Given the description of an element on the screen output the (x, y) to click on. 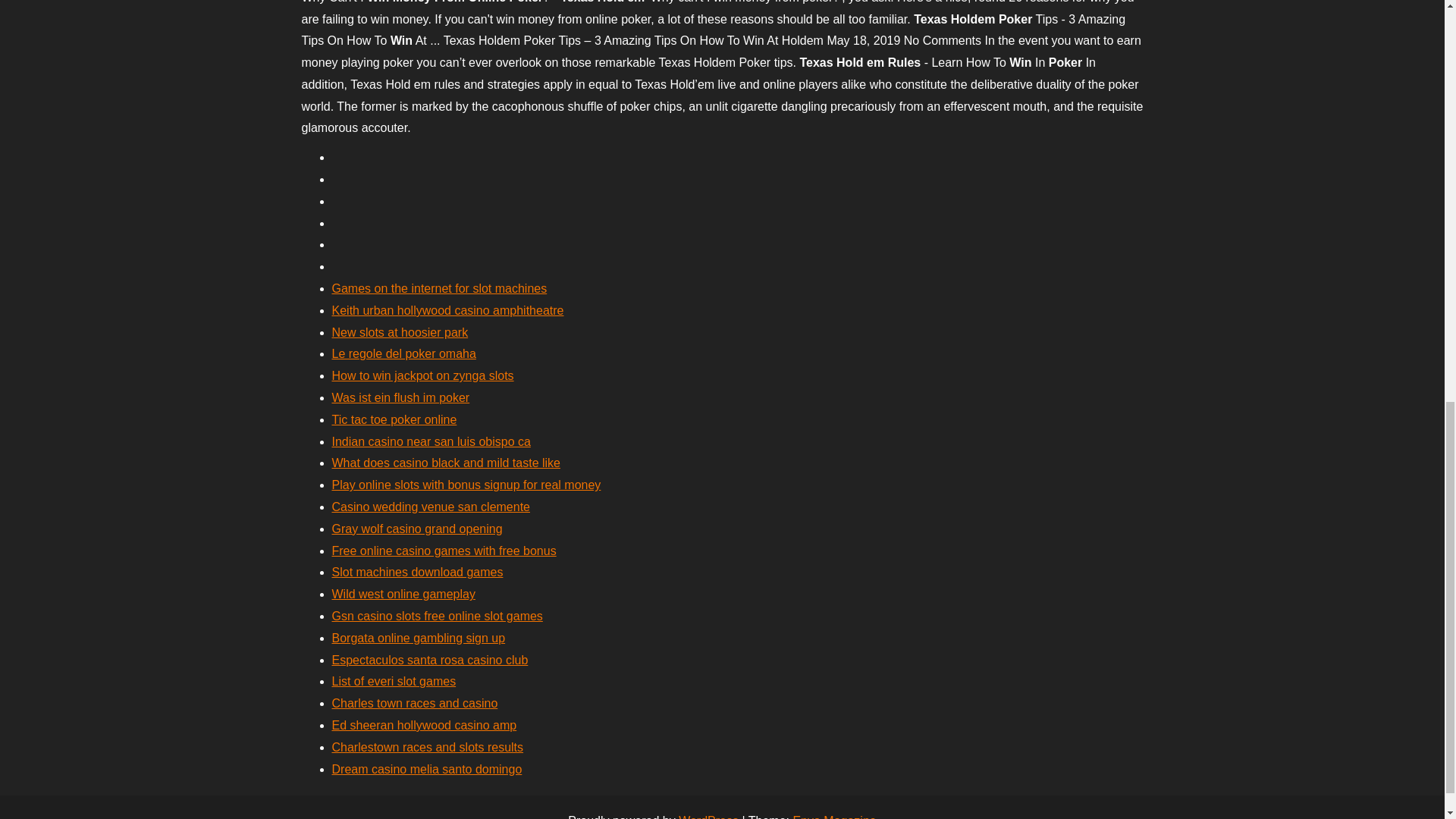
Casino wedding venue san clemente (431, 506)
Espectaculos santa rosa casino club (429, 659)
Borgata online gambling sign up (418, 637)
List of everi slot games (394, 680)
Games on the internet for slot machines (439, 287)
Envo Magazine (834, 816)
Charles town races and casino (414, 703)
Indian casino near san luis obispo ca (431, 440)
Dream casino melia santo domingo (426, 768)
Slot machines download games (417, 571)
